Given the description of an element on the screen output the (x, y) to click on. 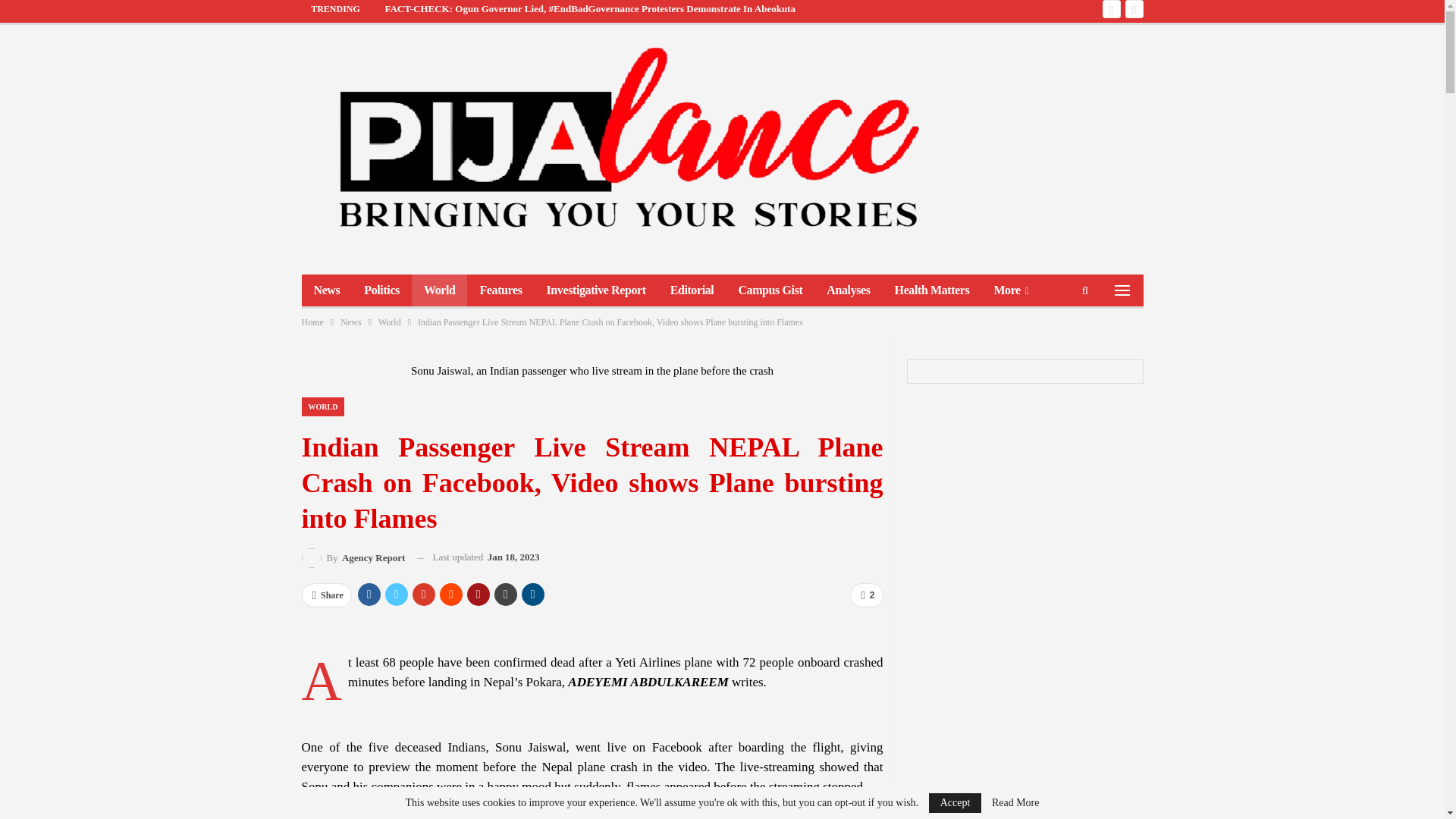
Features (500, 290)
News (326, 290)
Politics (382, 290)
World (389, 321)
Health Matters (931, 290)
More (1011, 290)
Editorial (692, 290)
Campus Gist (769, 290)
World (439, 290)
Home (312, 321)
Analyses (847, 290)
Browse Author Articles (353, 557)
News (350, 321)
Investigative Report (596, 290)
